Given the description of an element on the screen output the (x, y) to click on. 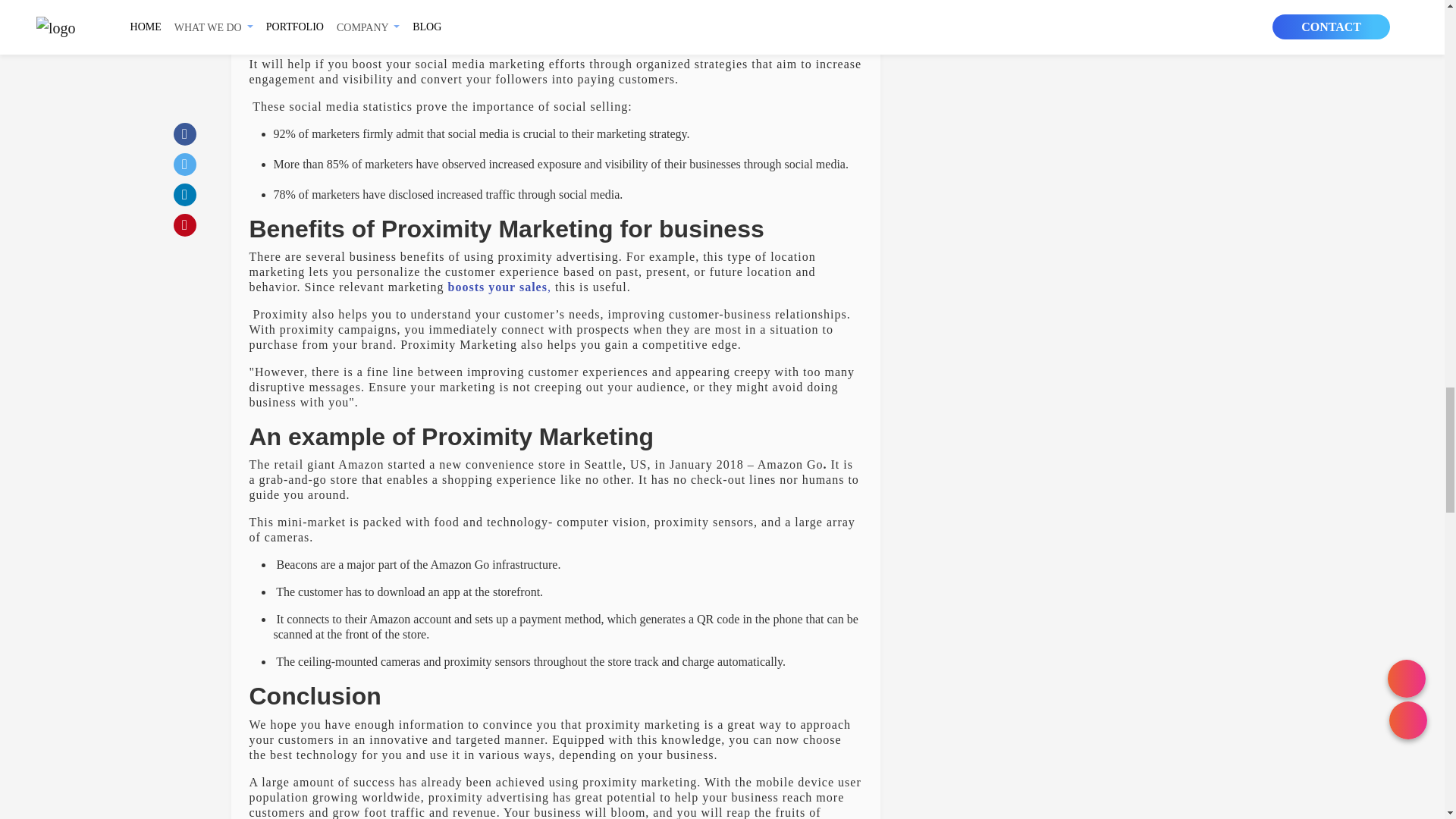
boosts your sales, (497, 286)
